Given the description of an element on the screen output the (x, y) to click on. 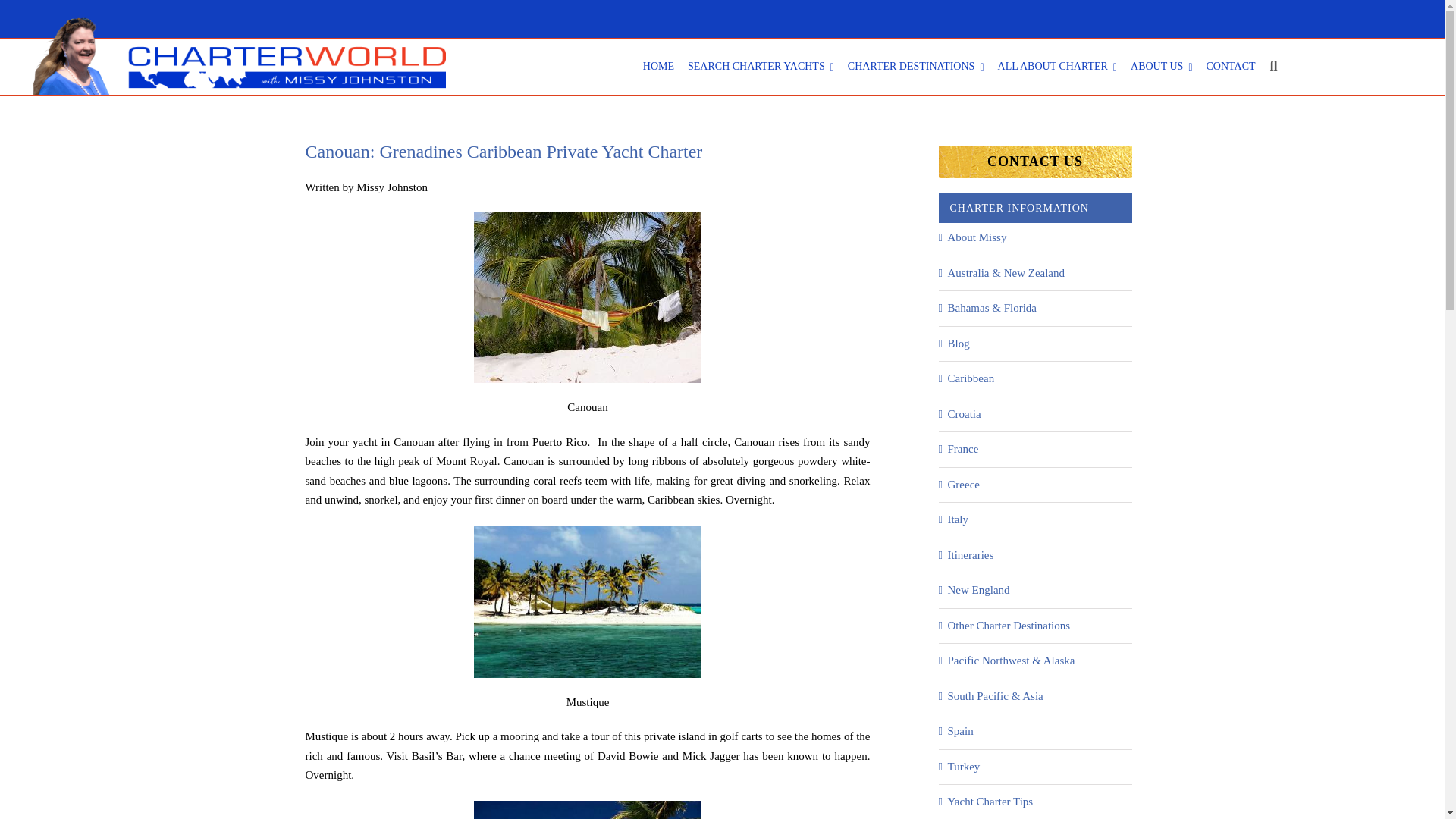
ALL ABOUT CHARTER (1057, 66)
CONTACT (1230, 66)
HOME (658, 66)
ABOUT US (1161, 66)
CHARTER DESTINATIONS (916, 66)
SEARCH CHARTER YACHTS (761, 66)
